Given the description of an element on the screen output the (x, y) to click on. 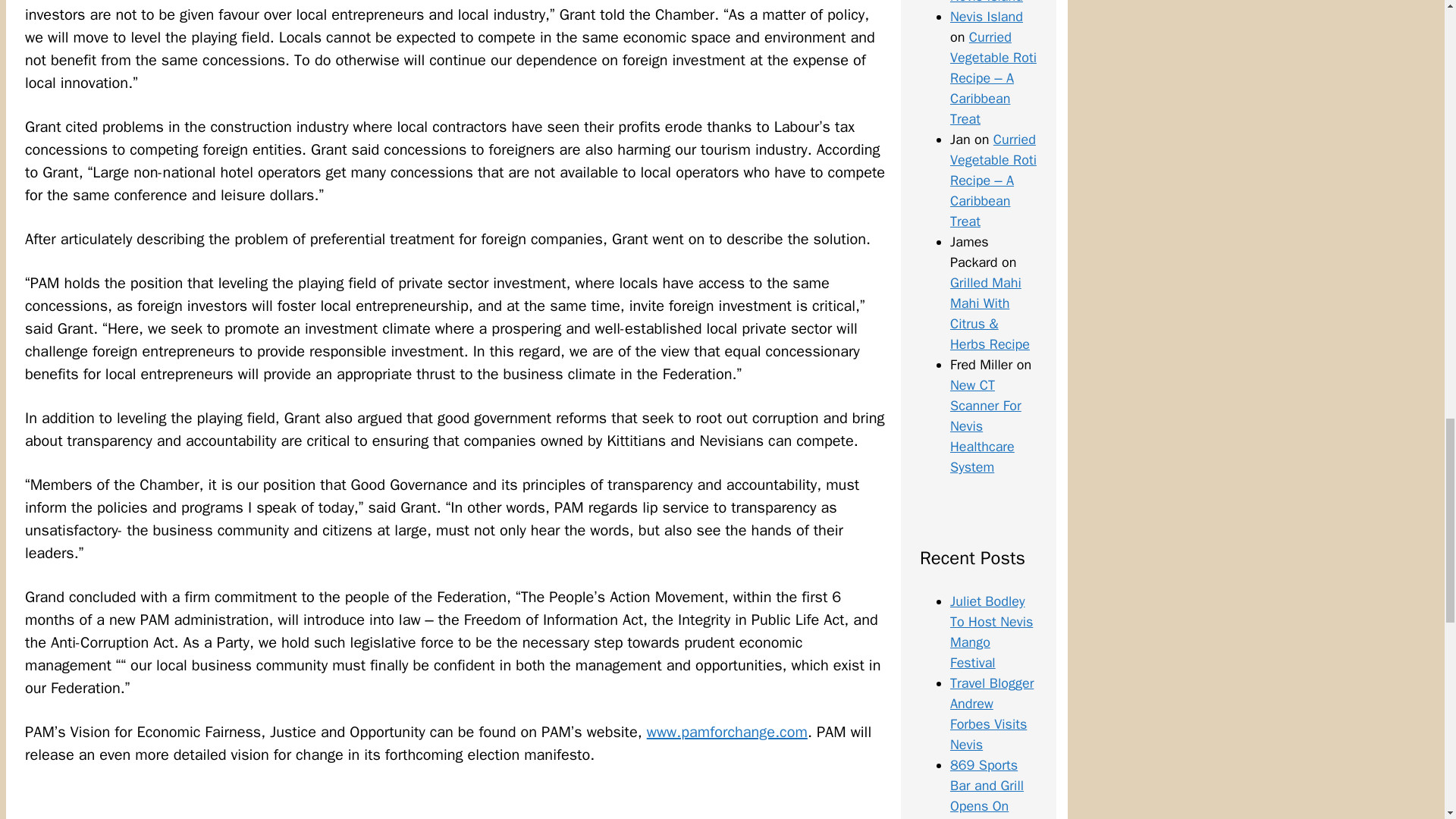
Nevis Island (986, 16)
www.pamforchange.com (727, 732)
